Given the description of an element on the screen output the (x, y) to click on. 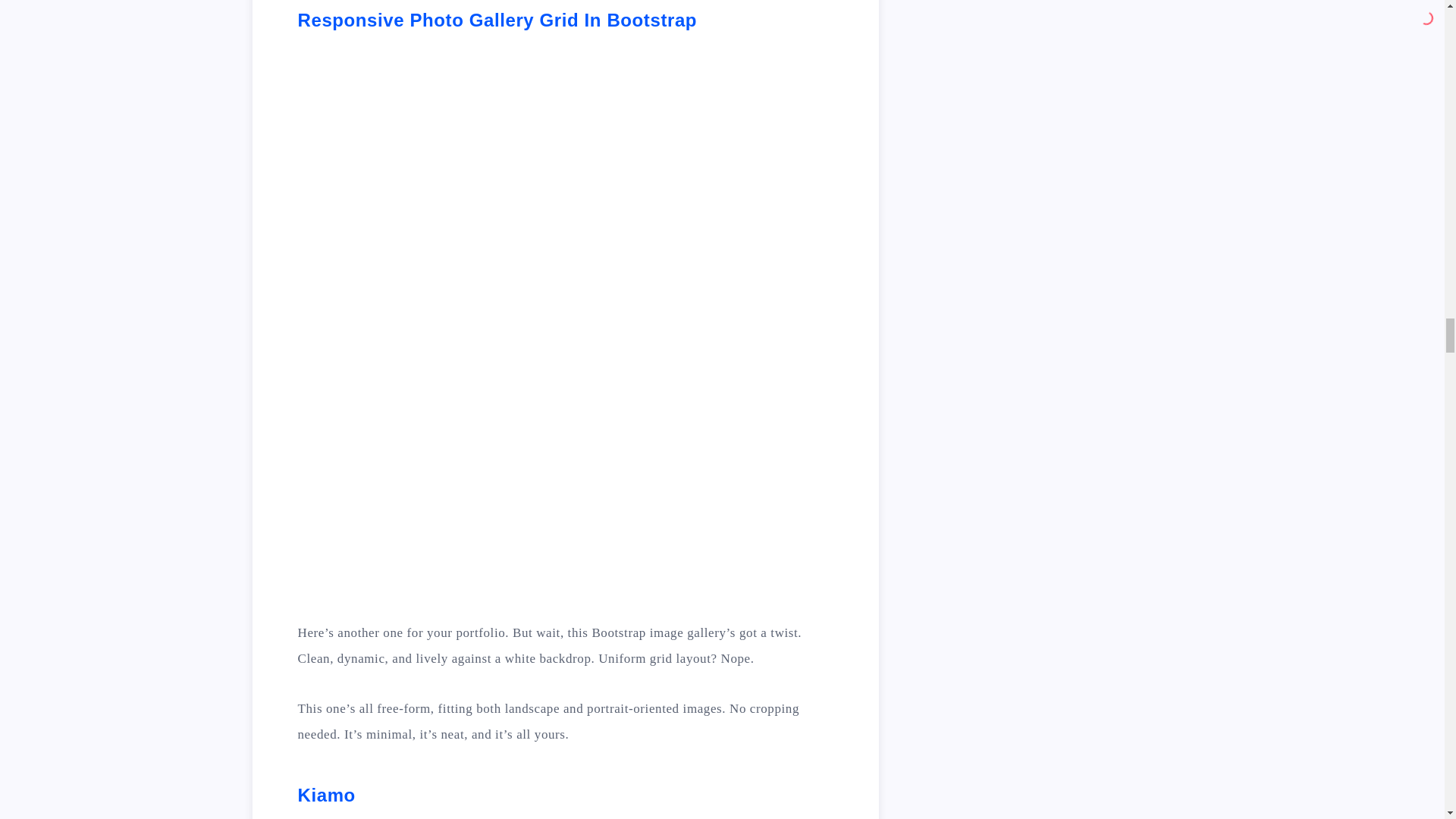
Responsive Photo Gallery Grid In Bootstrap (497, 19)
